Given the description of an element on the screen output the (x, y) to click on. 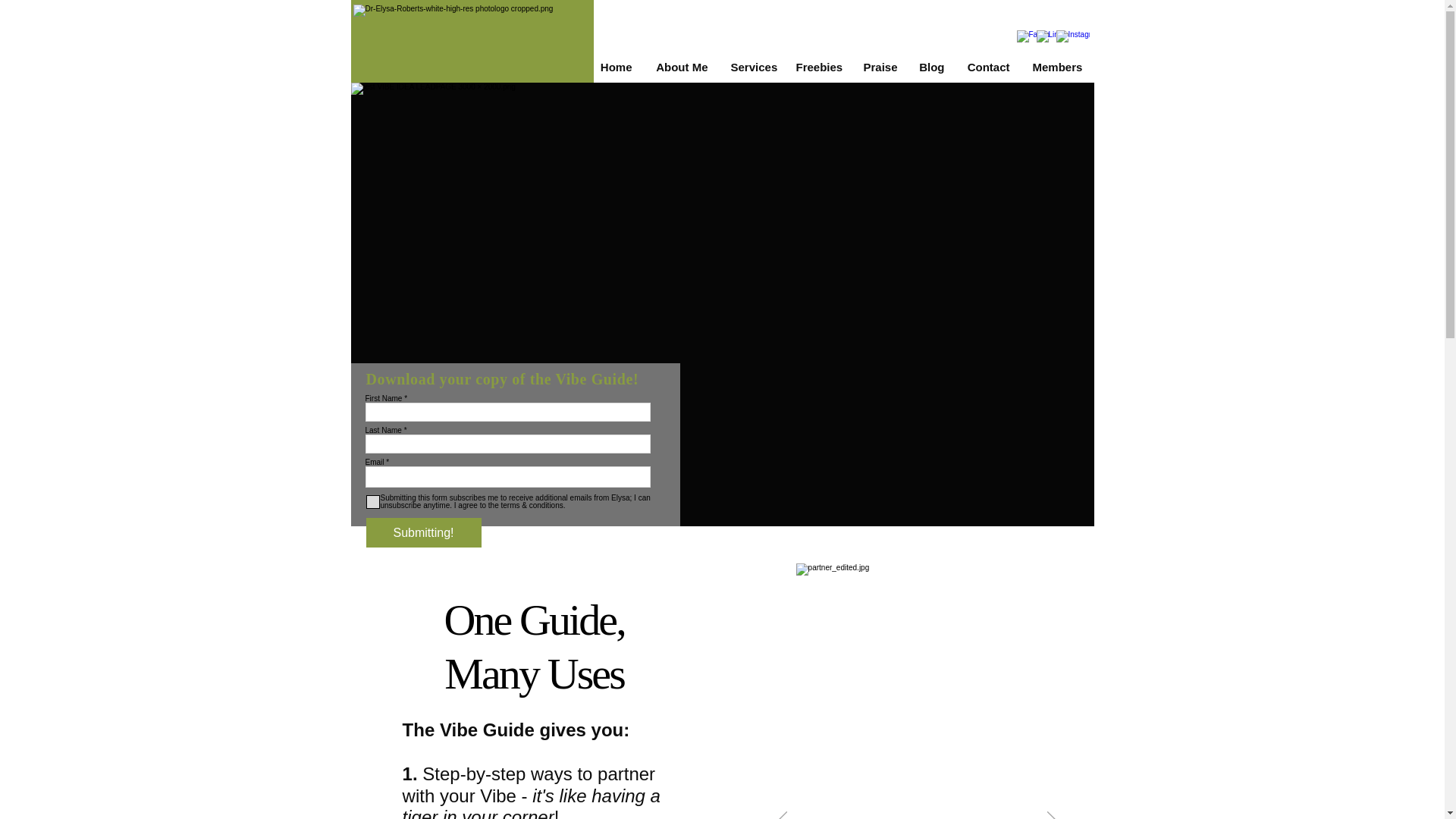
Services (751, 67)
Submitting! (422, 532)
Blog (931, 67)
Praise (879, 67)
About Me (681, 67)
Members (1056, 67)
Home (614, 67)
Contact (987, 67)
